Given the description of an element on the screen output the (x, y) to click on. 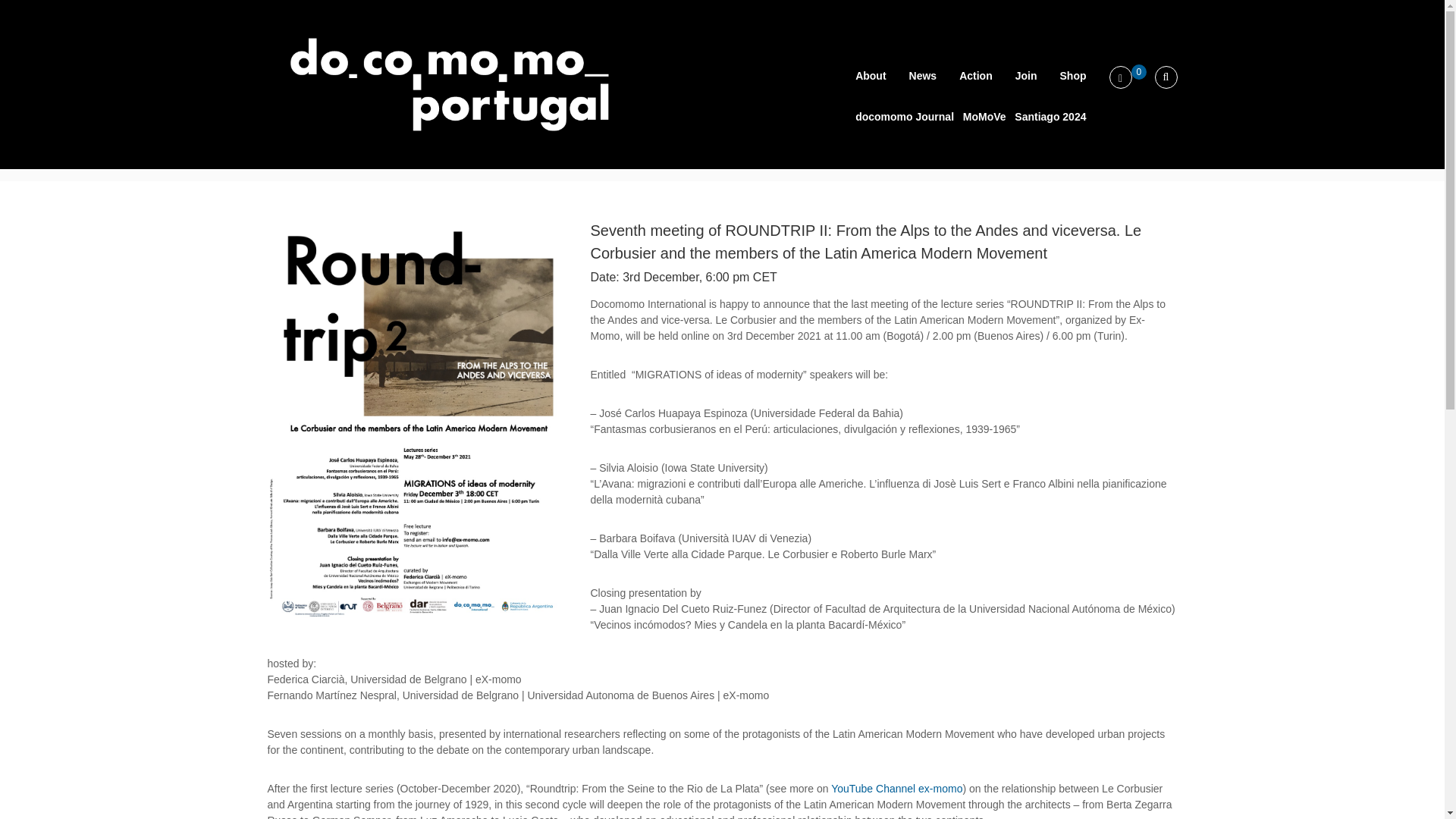
News (956, 163)
Shop (1072, 75)
MoMoVe (984, 116)
Docomomo Portugal (318, 26)
docomomo Journal (904, 116)
About (870, 75)
YouTube Channel ex-momo (896, 788)
Join (1025, 75)
News (922, 75)
Santiago 2024 (1050, 116)
